Given the description of an element on the screen output the (x, y) to click on. 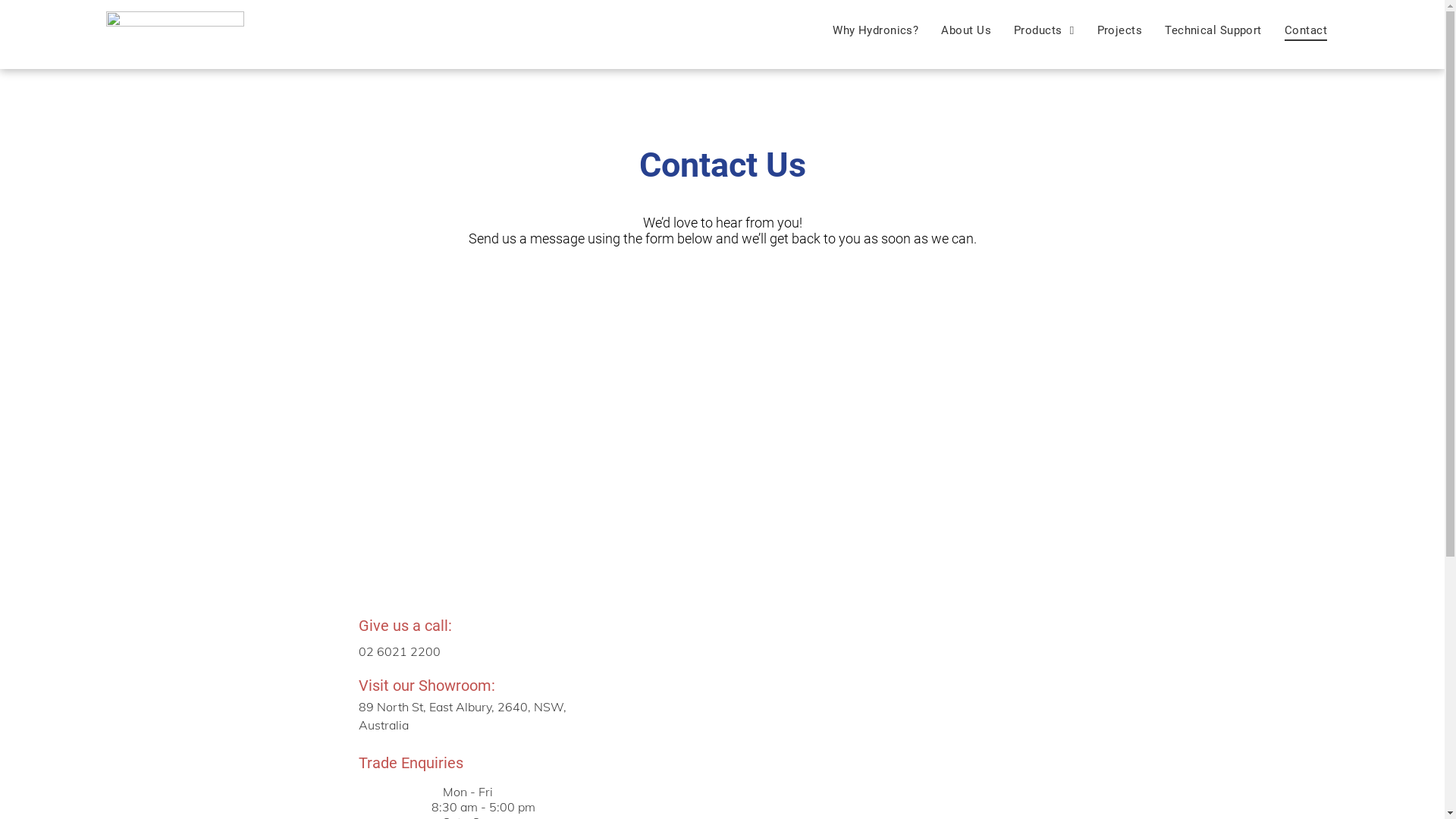
About Us Element type: text (965, 29)
Submit Element type: text (723, 509)
Projects Element type: text (1119, 29)
Contact Element type: text (1305, 29)
Technical Support Element type: text (1213, 29)
Products Element type: text (1043, 29)
Why Hydronics? Element type: text (875, 29)
